Given the description of an element on the screen output the (x, y) to click on. 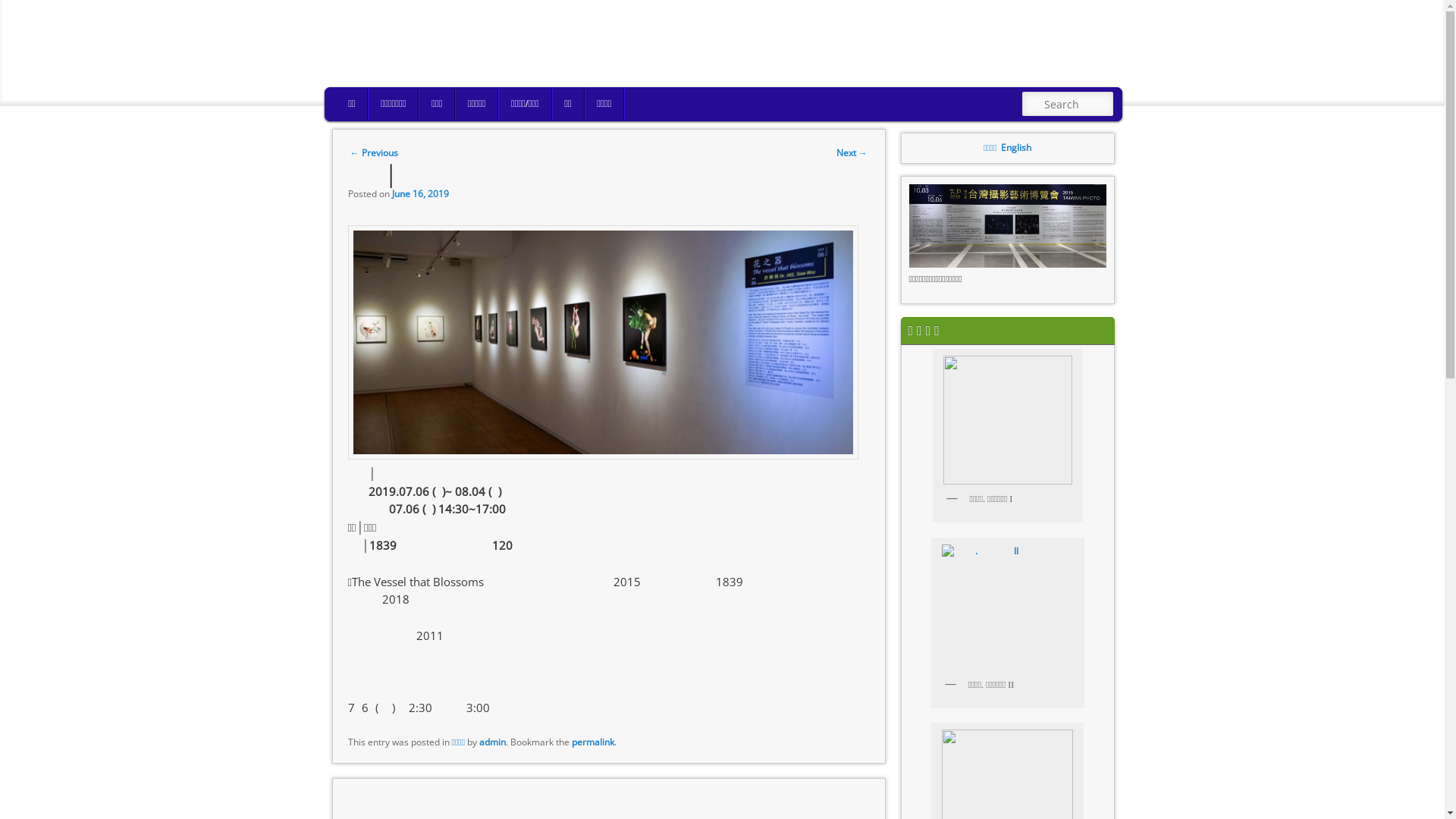
RSS Element type: hover (1047, 73)
Facebook Element type: hover (1071, 73)
English Element type: text (1016, 147)
permalink Element type: text (592, 741)
admin Element type: text (492, 741)
SKIP TO PRIMARY CONTENT Element type: text (436, 106)
SKIP TO SECONDARY CONTENT Element type: text (446, 106)
June 16, 2019 Element type: text (419, 193)
Search Element type: text (23, 9)
Twitter Element type: hover (1094, 73)
